Given the description of an element on the screen output the (x, y) to click on. 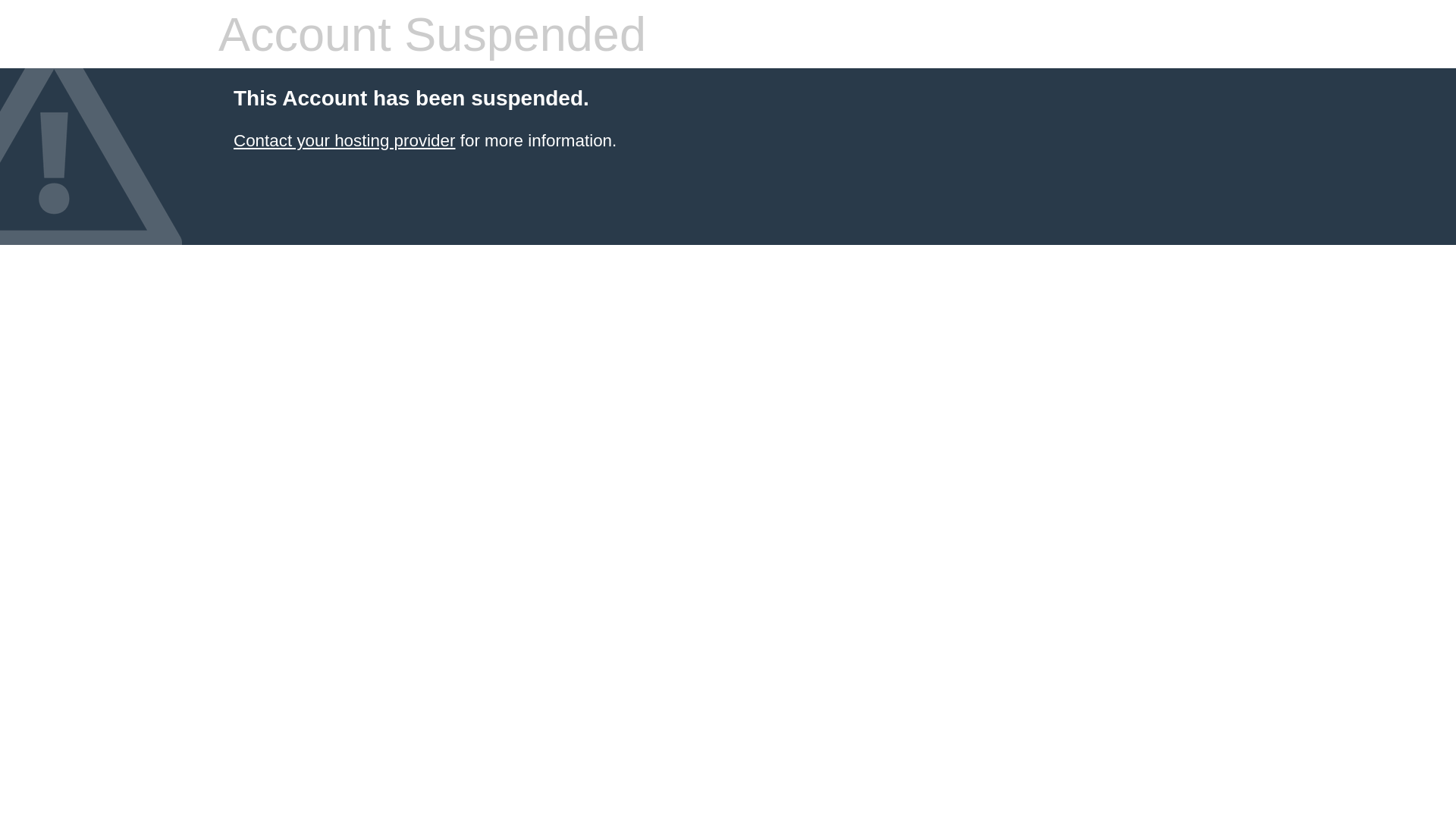
Contact your hosting provider Element type: text (344, 140)
